Given the description of an element on the screen output the (x, y) to click on. 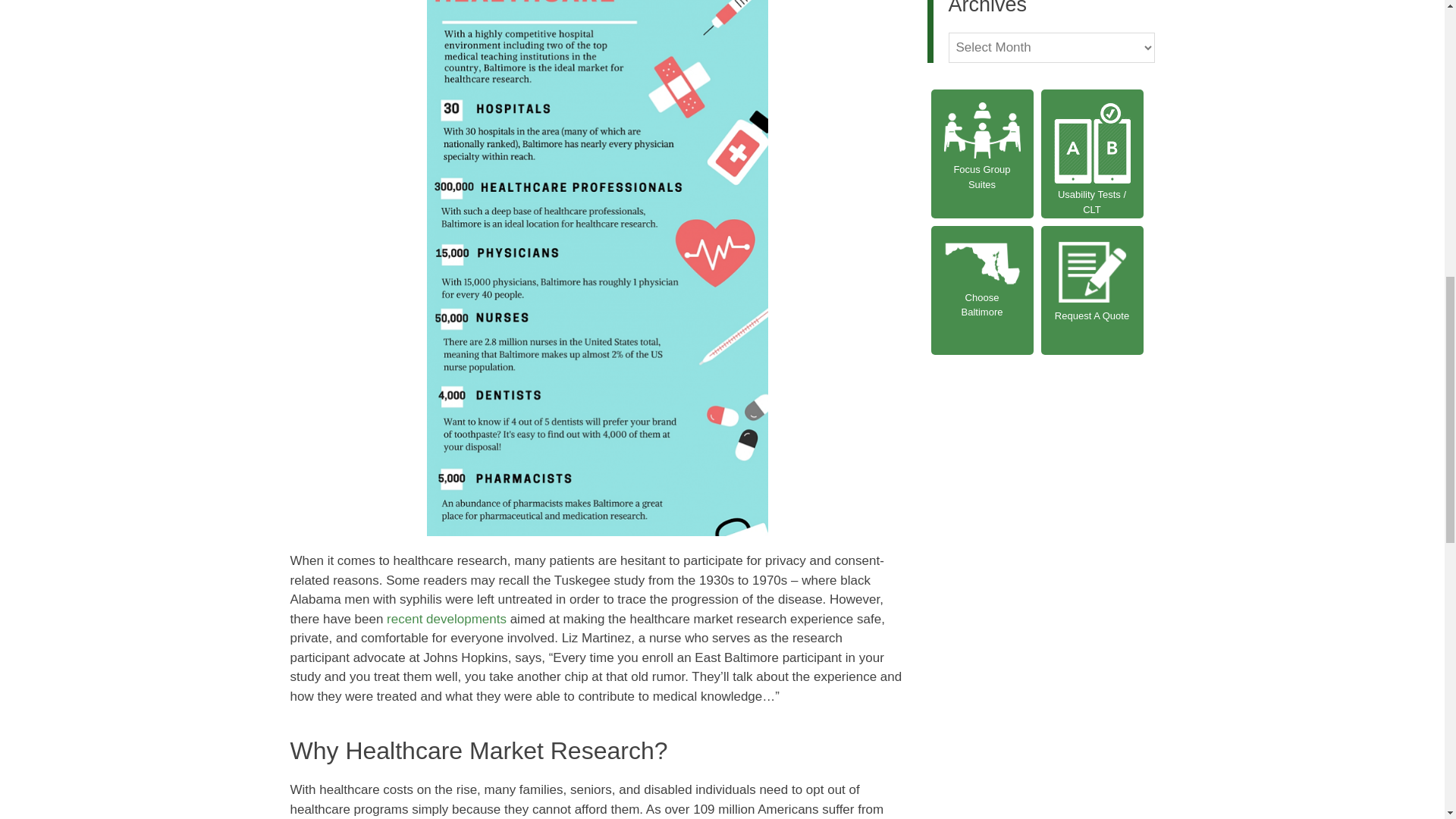
recent developments (446, 618)
Request A Quote (1091, 290)
Focus Group Suites (982, 153)
Choose Baltimore (982, 290)
